Given the description of an element on the screen output the (x, y) to click on. 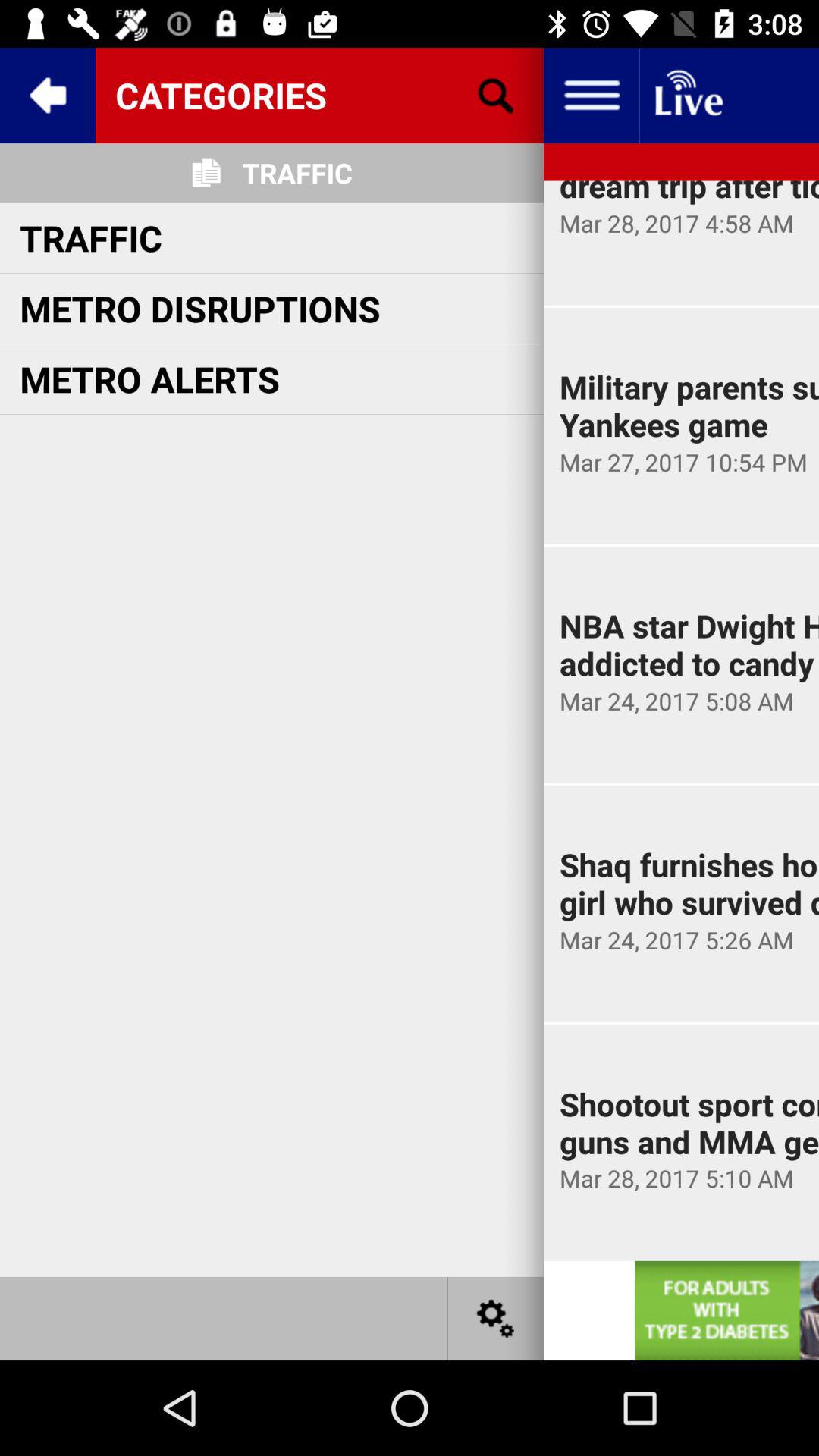
settings (495, 1318)
